Given the description of an element on the screen output the (x, y) to click on. 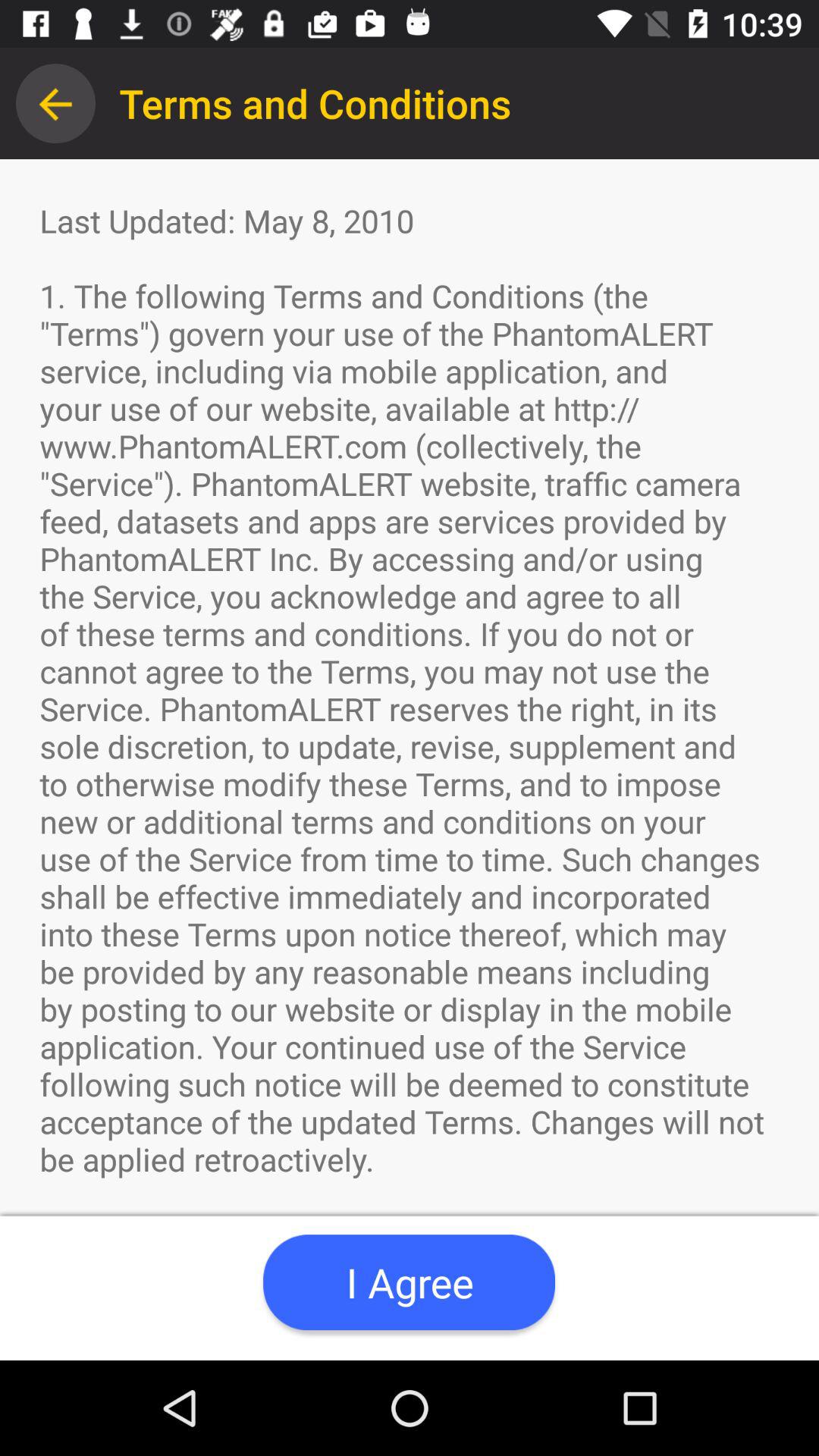
jump until the last updated may app (409, 759)
